Given the description of an element on the screen output the (x, y) to click on. 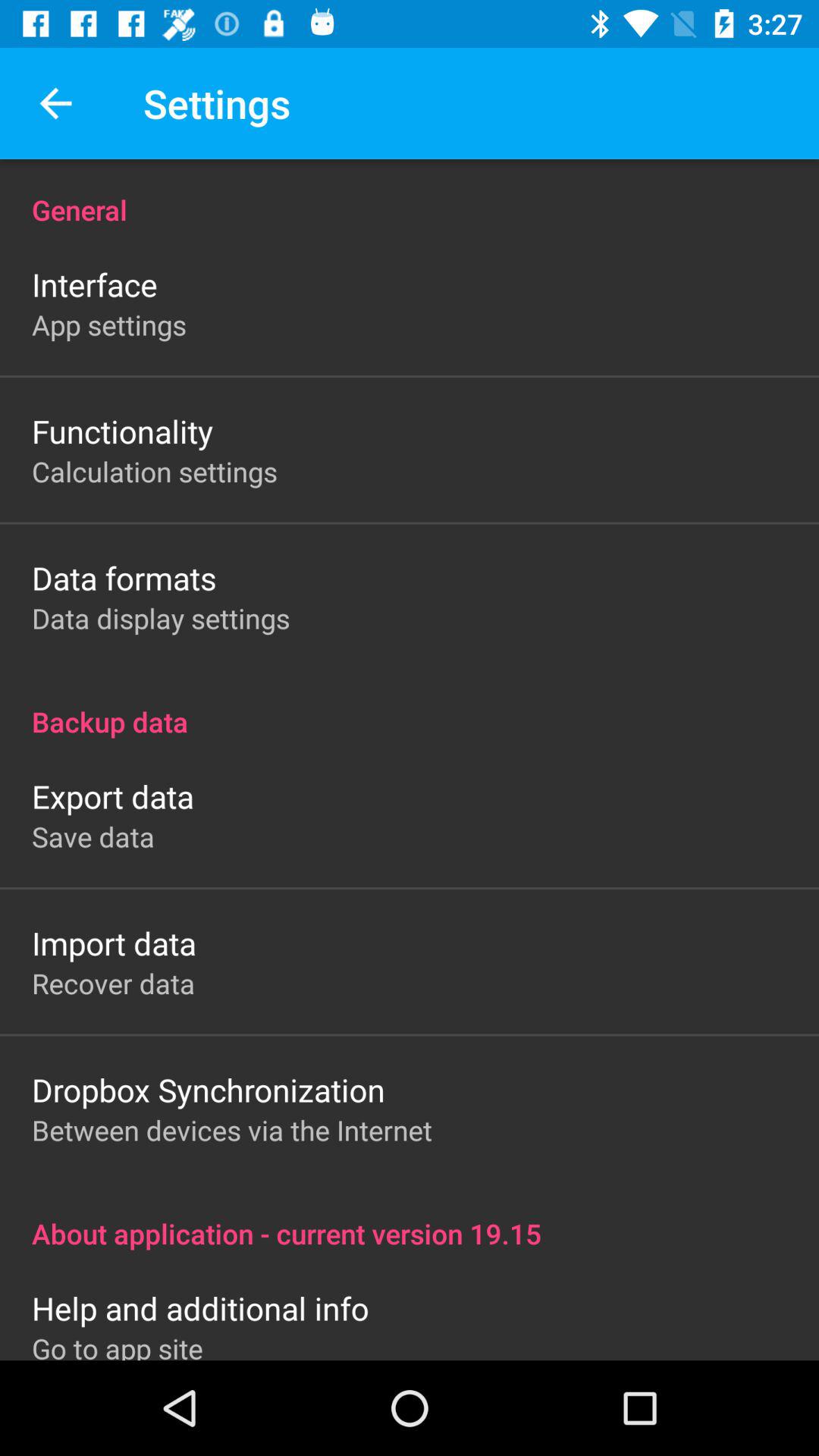
open the app next to settings app (55, 103)
